Given the description of an element on the screen output the (x, y) to click on. 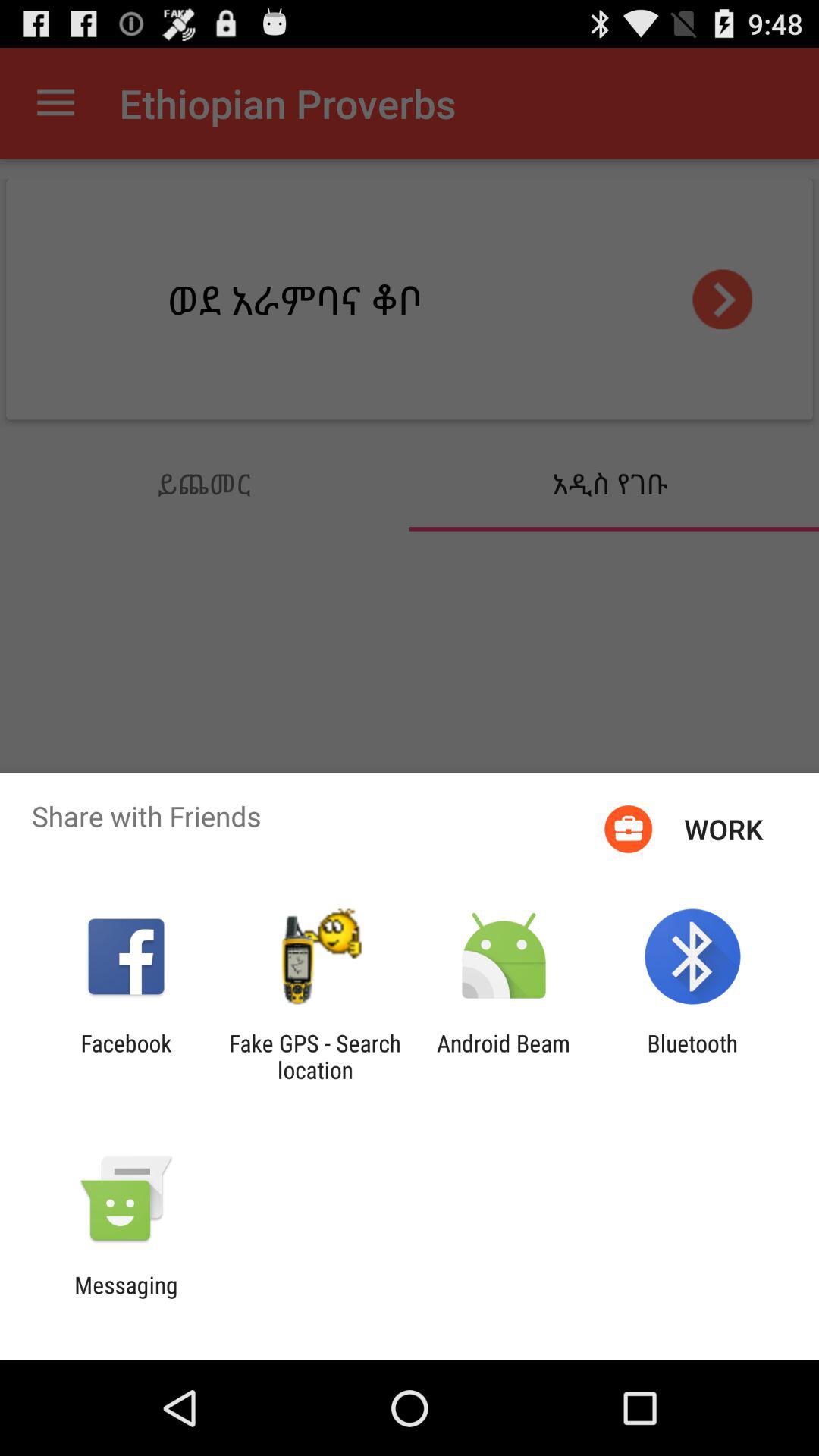
tap item next to facebook app (314, 1056)
